Given the description of an element on the screen output the (x, y) to click on. 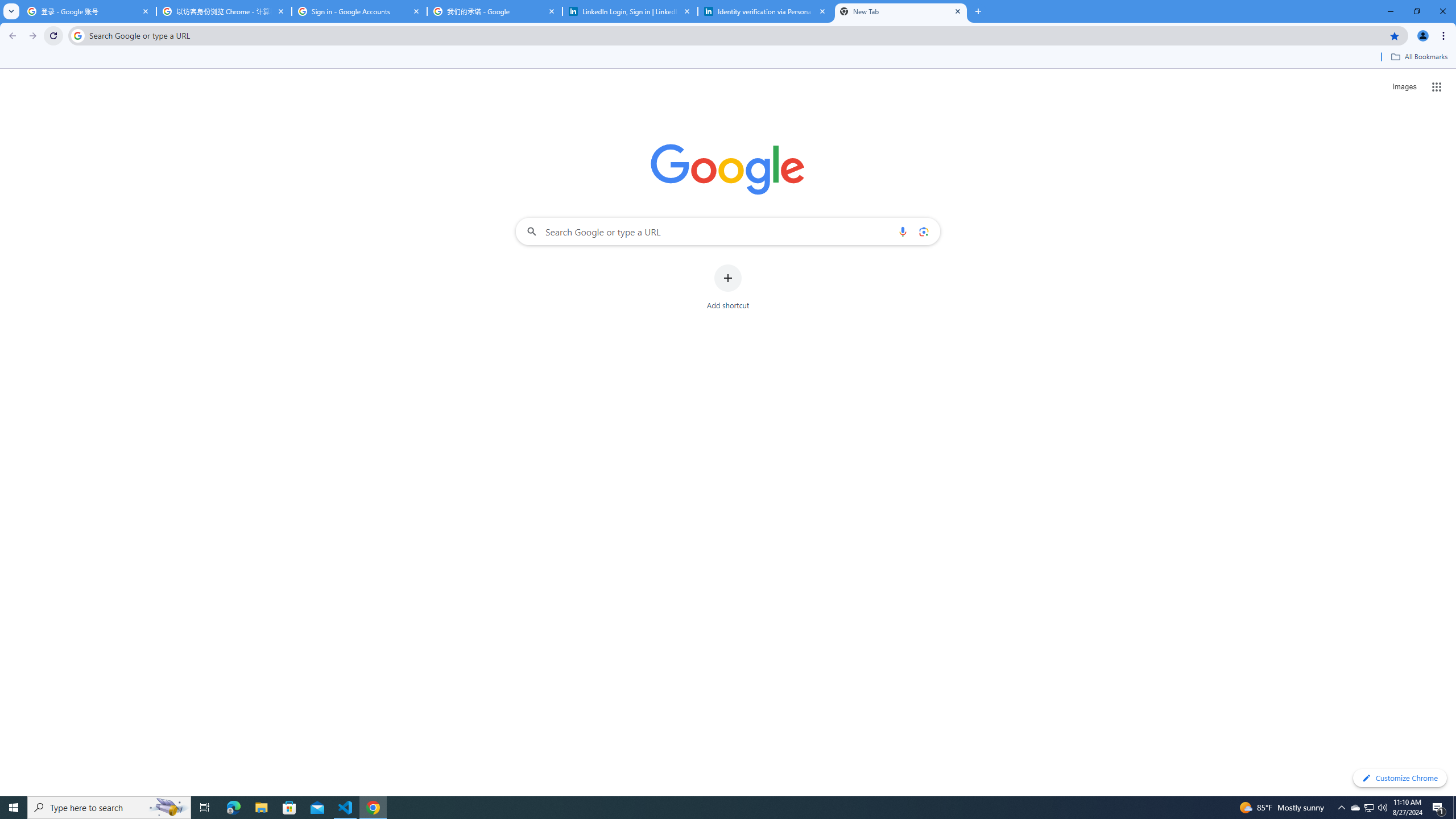
Sign in - Google Accounts (359, 11)
Add shortcut (727, 287)
